Given the description of an element on the screen output the (x, y) to click on. 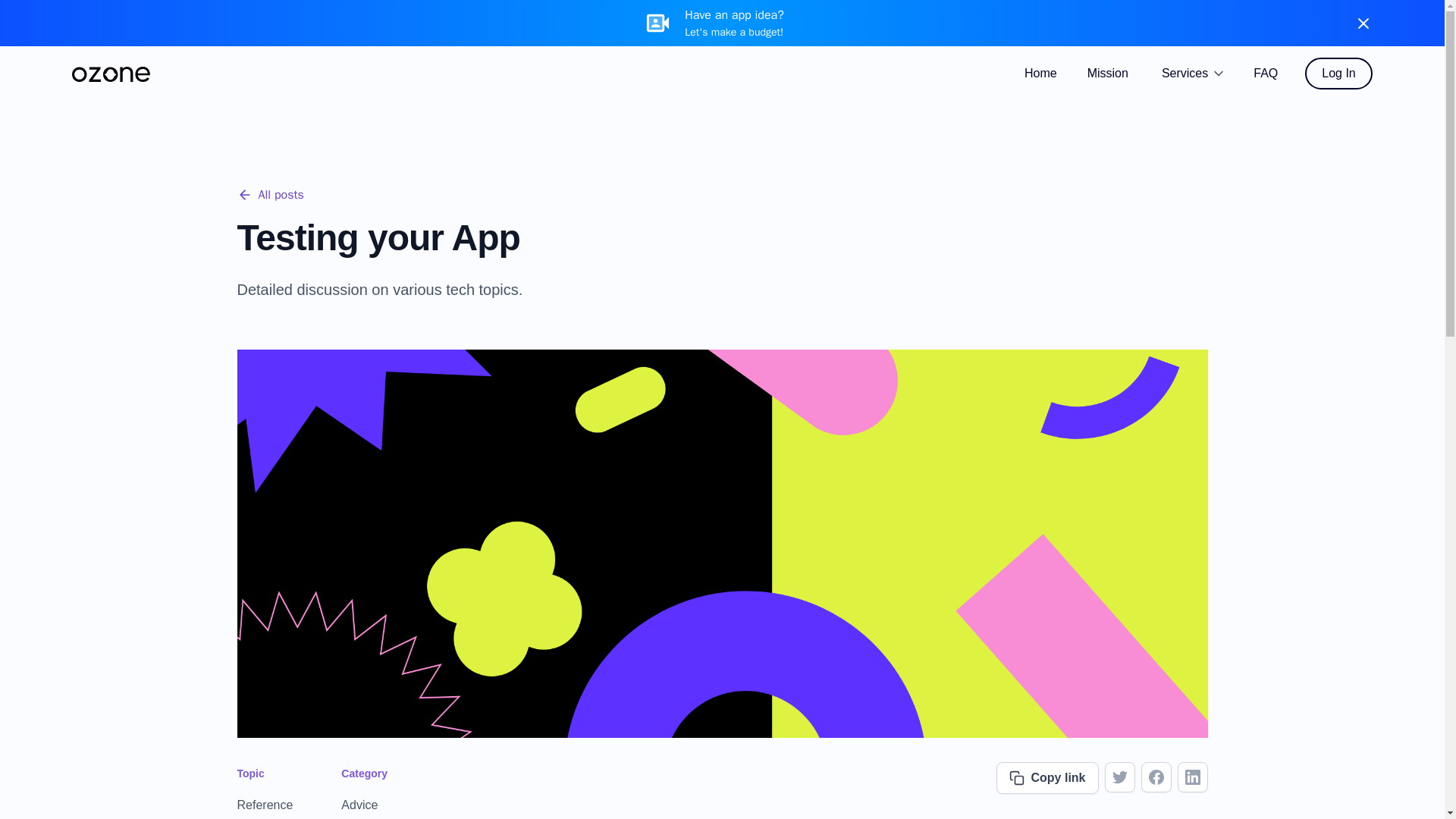
FAQ (1265, 73)
Log In (1337, 73)
All posts (268, 194)
Copy link (1046, 777)
Home (1040, 73)
Mission (1106, 73)
